Given the description of an element on the screen output the (x, y) to click on. 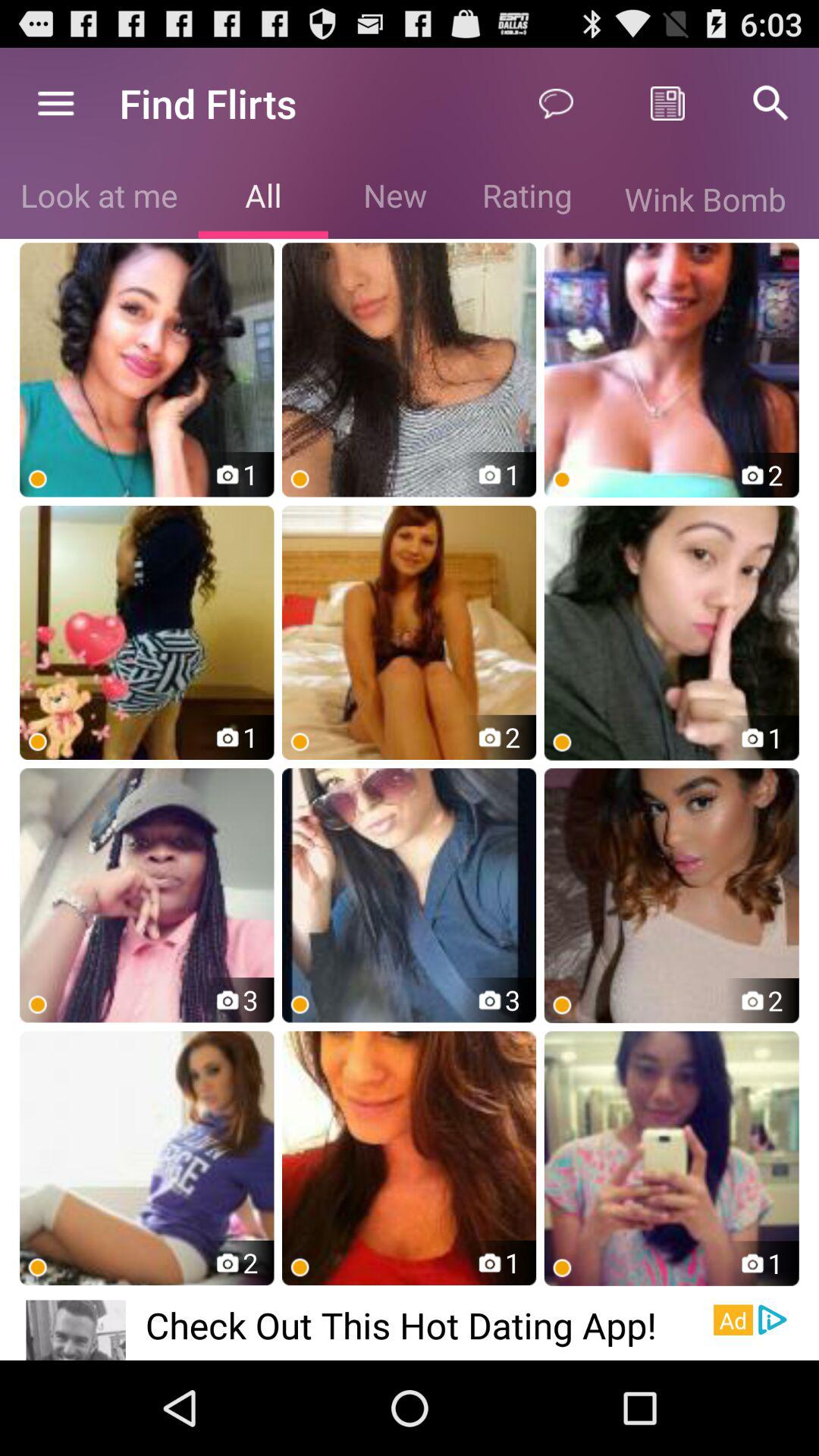
tap the app next to  ad  icon (429, 1324)
